Given the description of an element on the screen output the (x, y) to click on. 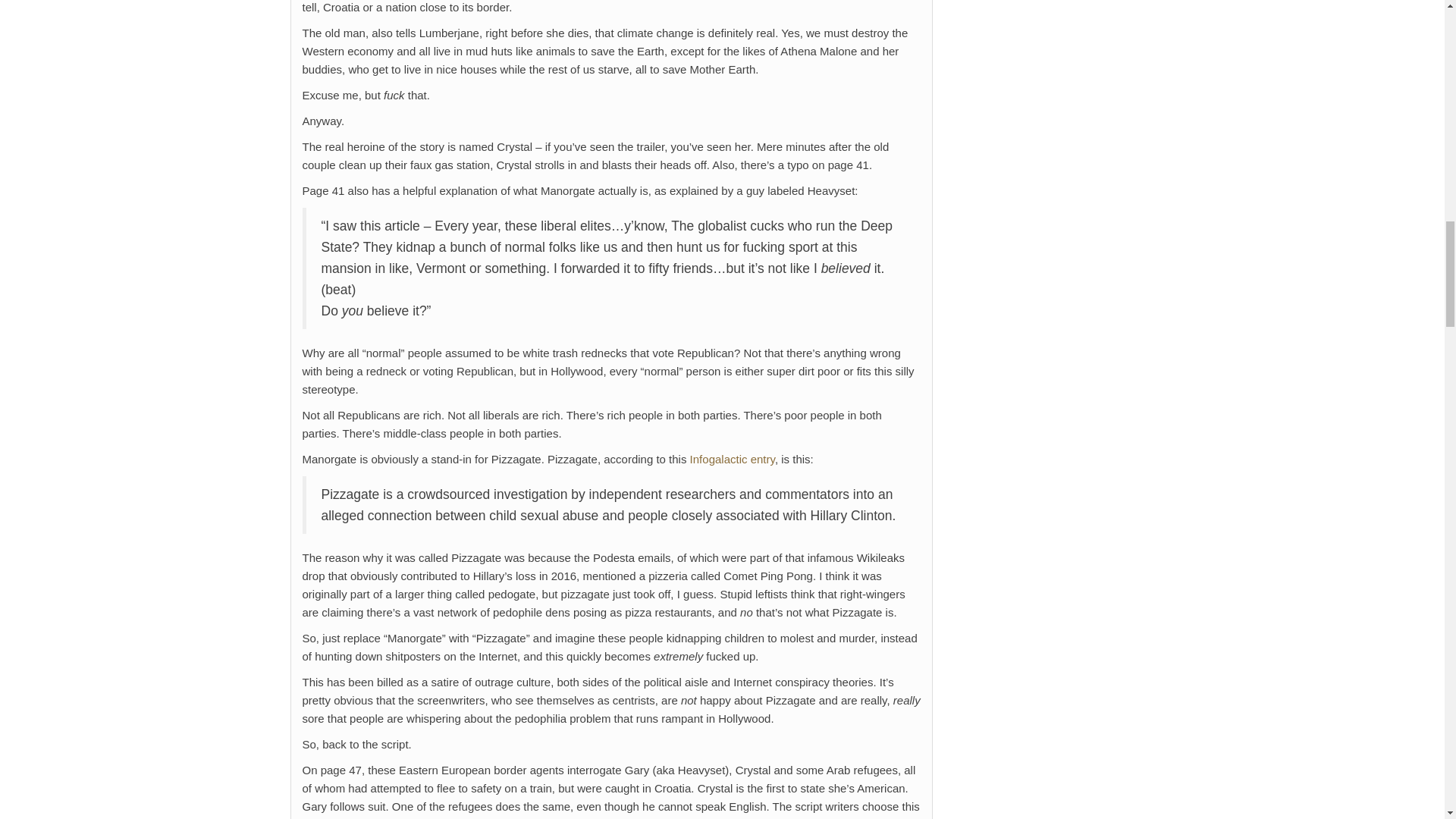
Infogalactic entry (732, 459)
